Given the description of an element on the screen output the (x, y) to click on. 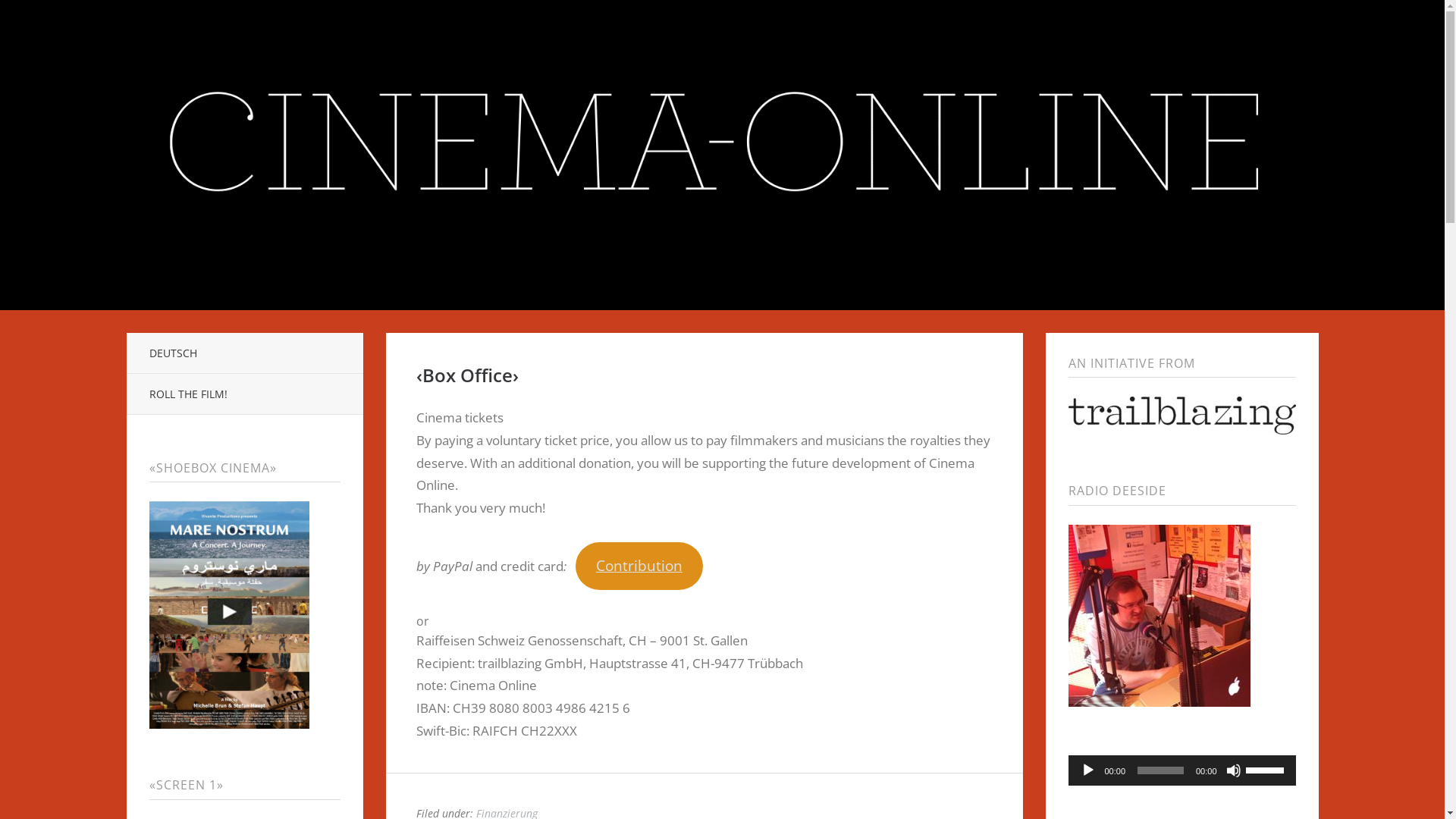
ROLL THE FILM! Element type: text (243, 393)
DEUTSCH Element type: text (243, 352)
cinema-online Element type: hover (721, 142)
Contribution Element type: text (638, 565)
Abspielen Element type: hover (1087, 770)
Stumm Element type: hover (1232, 770)
